Given the description of an element on the screen output the (x, y) to click on. 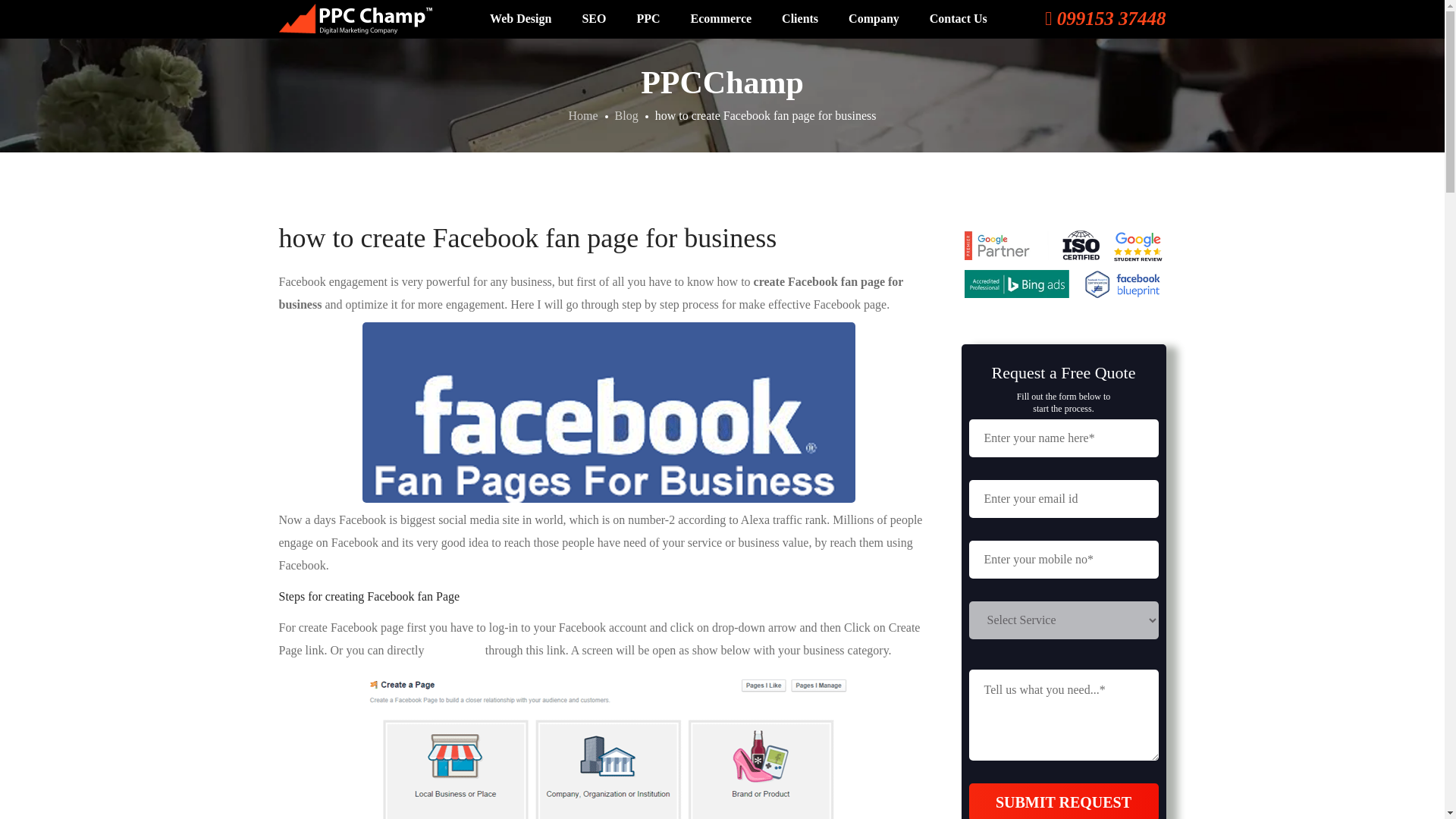
Blog (626, 115)
SEO (593, 18)
Submit Request (1063, 800)
Contact Us (958, 18)
Submit Request (1063, 800)
Web Design (520, 18)
Ecommerce (721, 18)
Go to create Facebook fan page (455, 649)
create page (455, 649)
Home (581, 115)
PPC (648, 18)
Company (873, 18)
Clients (799, 18)
099153 37448 (1105, 22)
